Given the description of an element on the screen output the (x, y) to click on. 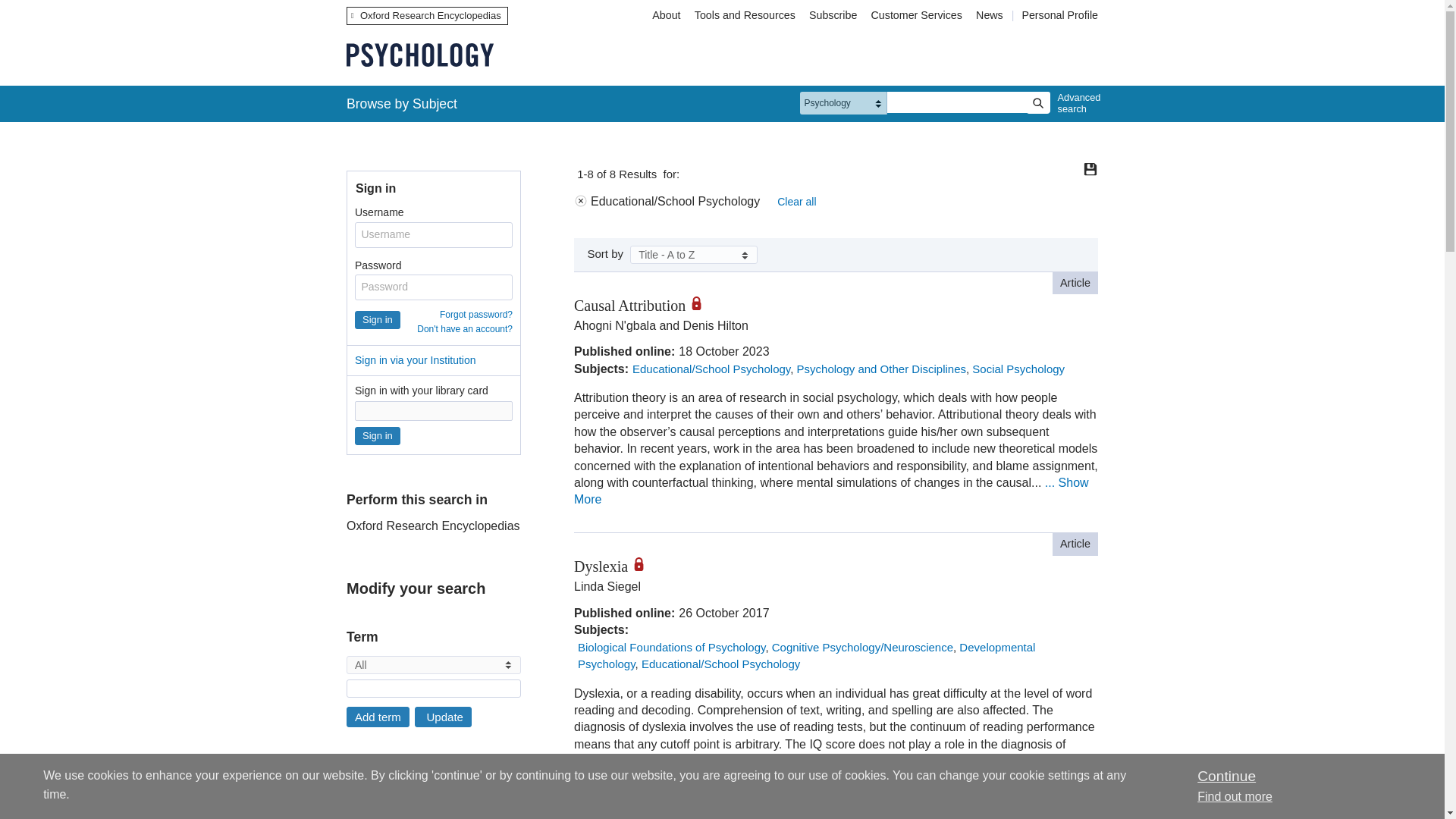
Sign in (377, 434)
About (665, 15)
Close this message (1225, 775)
Forgot password? (475, 314)
Continue (1225, 775)
Search (1037, 102)
restricted access (701, 303)
Personal Profile (1059, 15)
Search (1037, 102)
Customer Services (917, 15)
 Update (442, 716)
Tools and Resources (744, 15)
Oxford Research Encyclopedias (427, 15)
News (991, 15)
Oxford Research Encyclopedia of Psychology (419, 54)
